Given the description of an element on the screen output the (x, y) to click on. 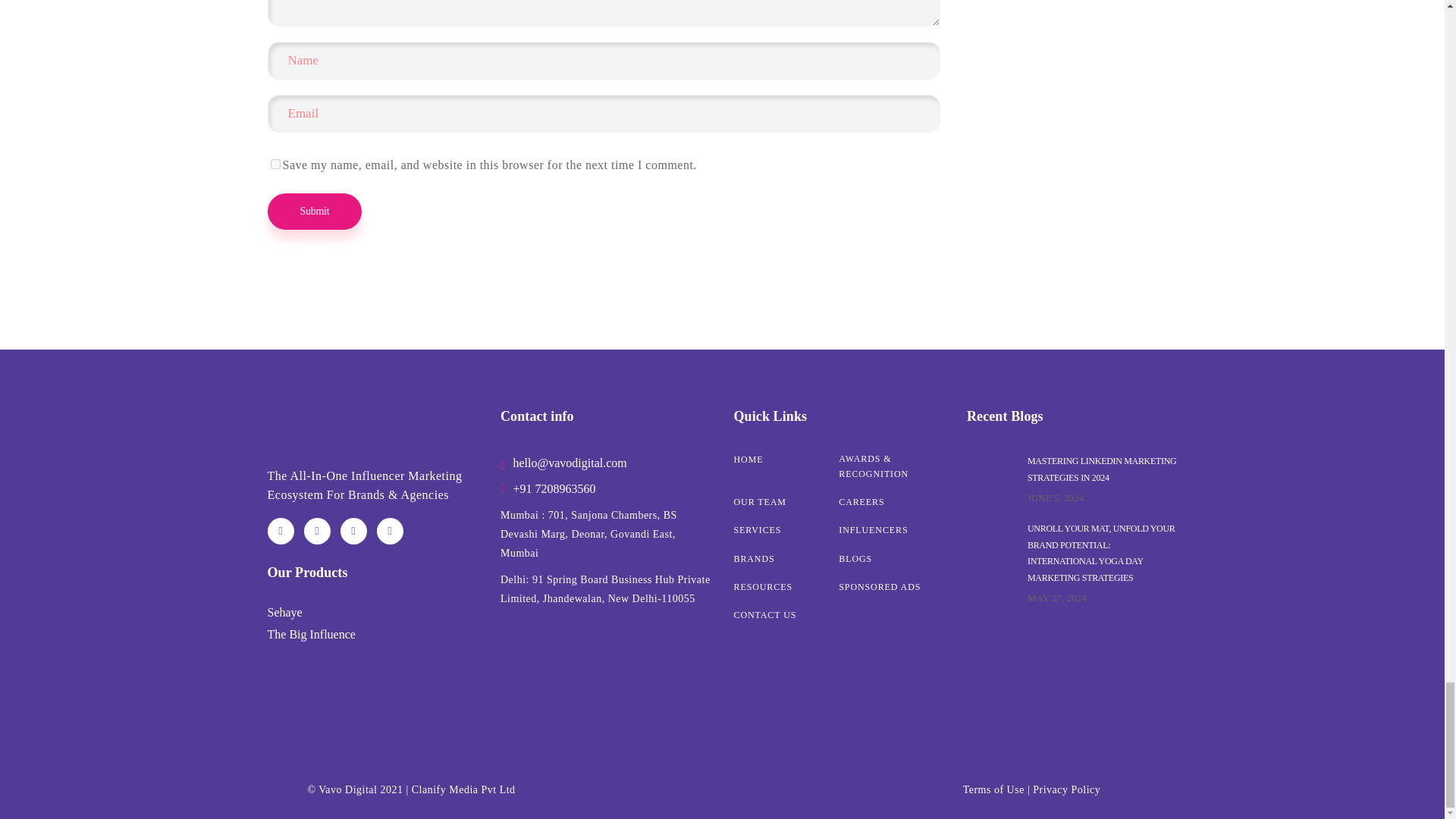
Mastering LinkedIn Marketing Strategies In 2024 (1101, 469)
yes (274, 163)
Mastering LinkedIn Marketing Strategies In 2024 (993, 478)
